Given the description of an element on the screen output the (x, y) to click on. 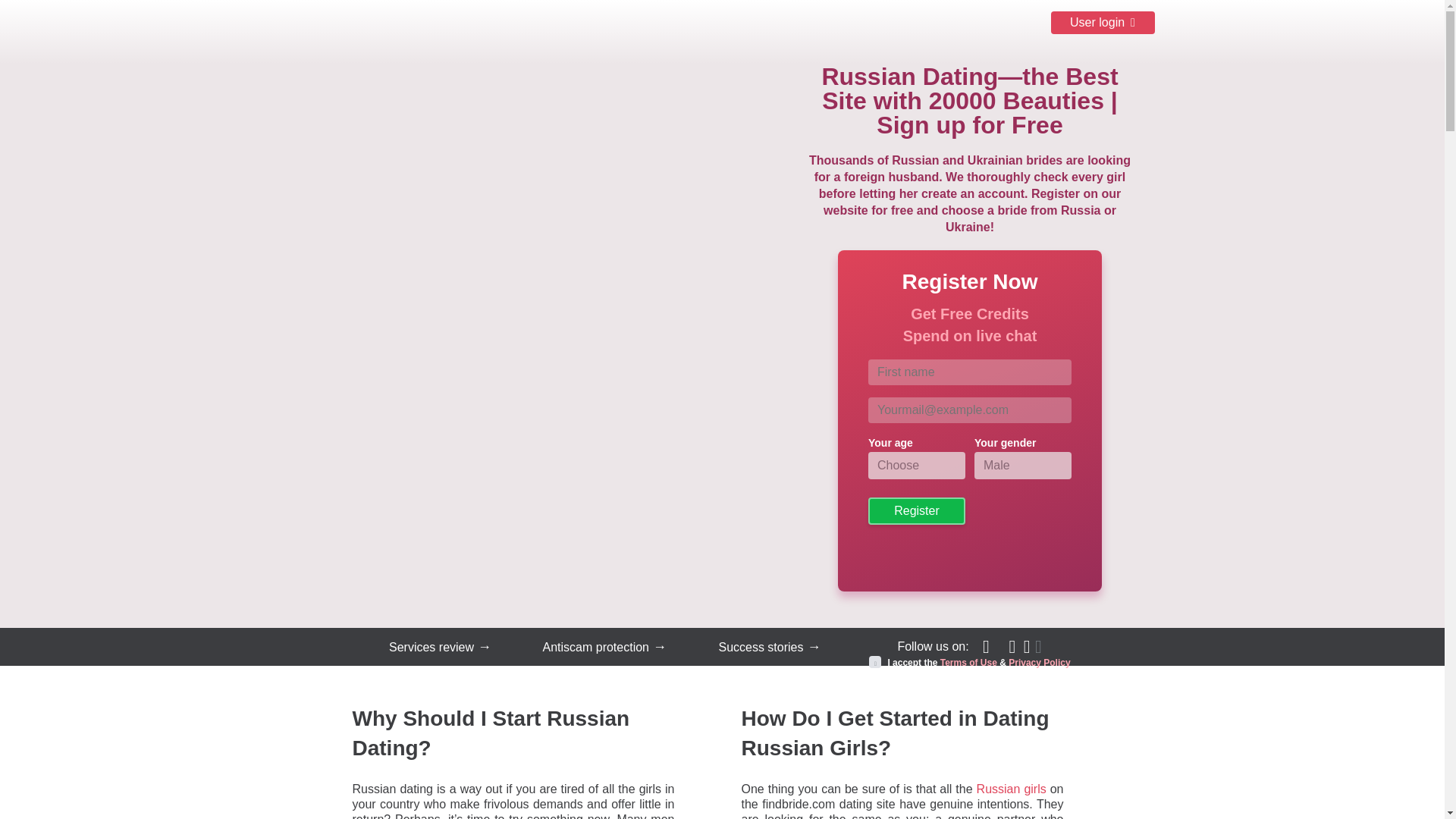
Register (916, 510)
Success stories (757, 647)
Services review (428, 647)
Russian girls (1011, 788)
Register (916, 510)
Privacy Policy (1039, 662)
Antiscam protection (591, 647)
Terms of Use (968, 662)
